Given the description of an element on the screen output the (x, y) to click on. 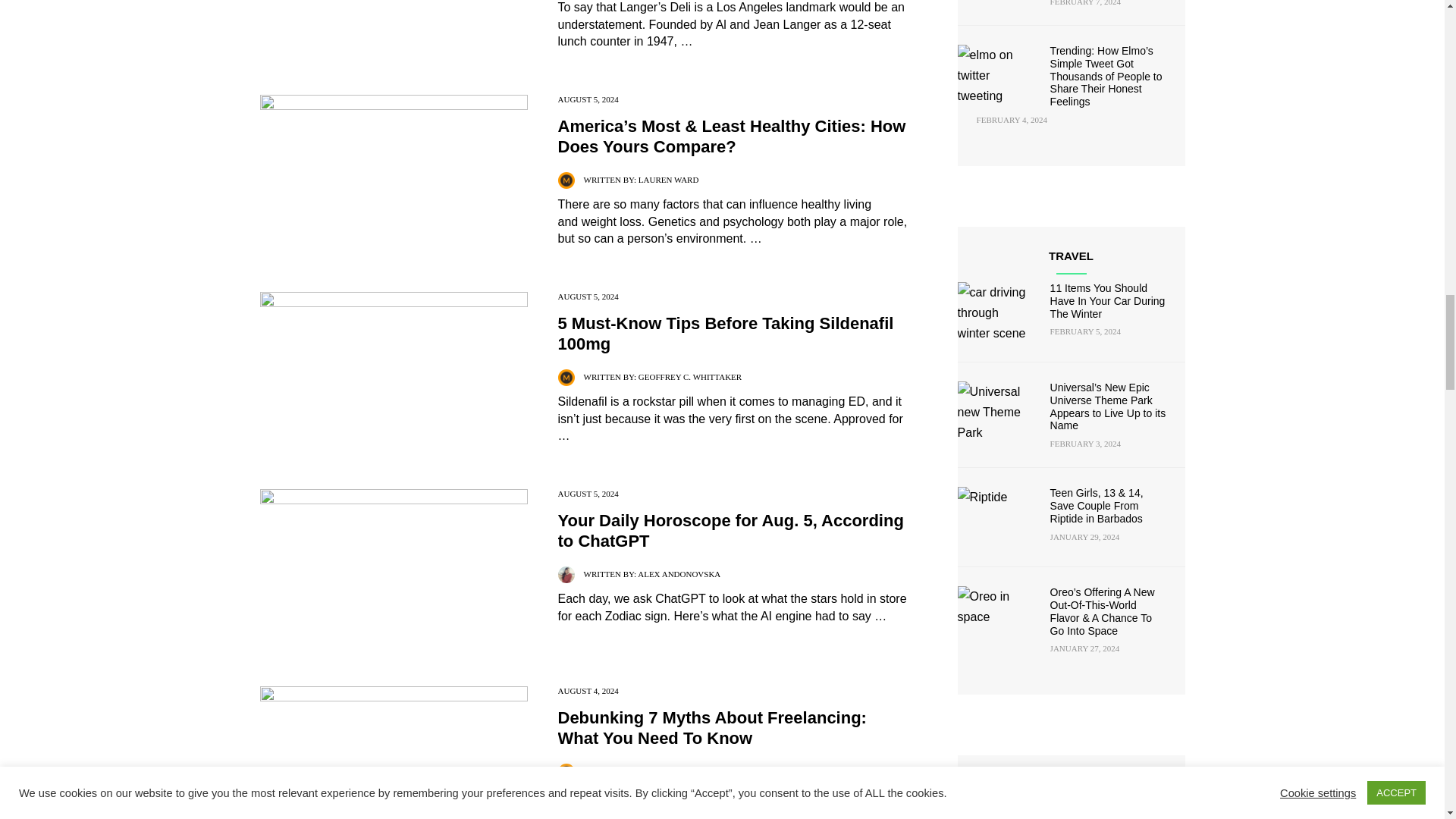
Posts by Alex Andonovska (678, 573)
Posts by Geoffrey C. Whittaker (690, 376)
Posts by Lauren Ward (668, 179)
Posts by Emily Gertenbach (679, 770)
